Given the description of an element on the screen output the (x, y) to click on. 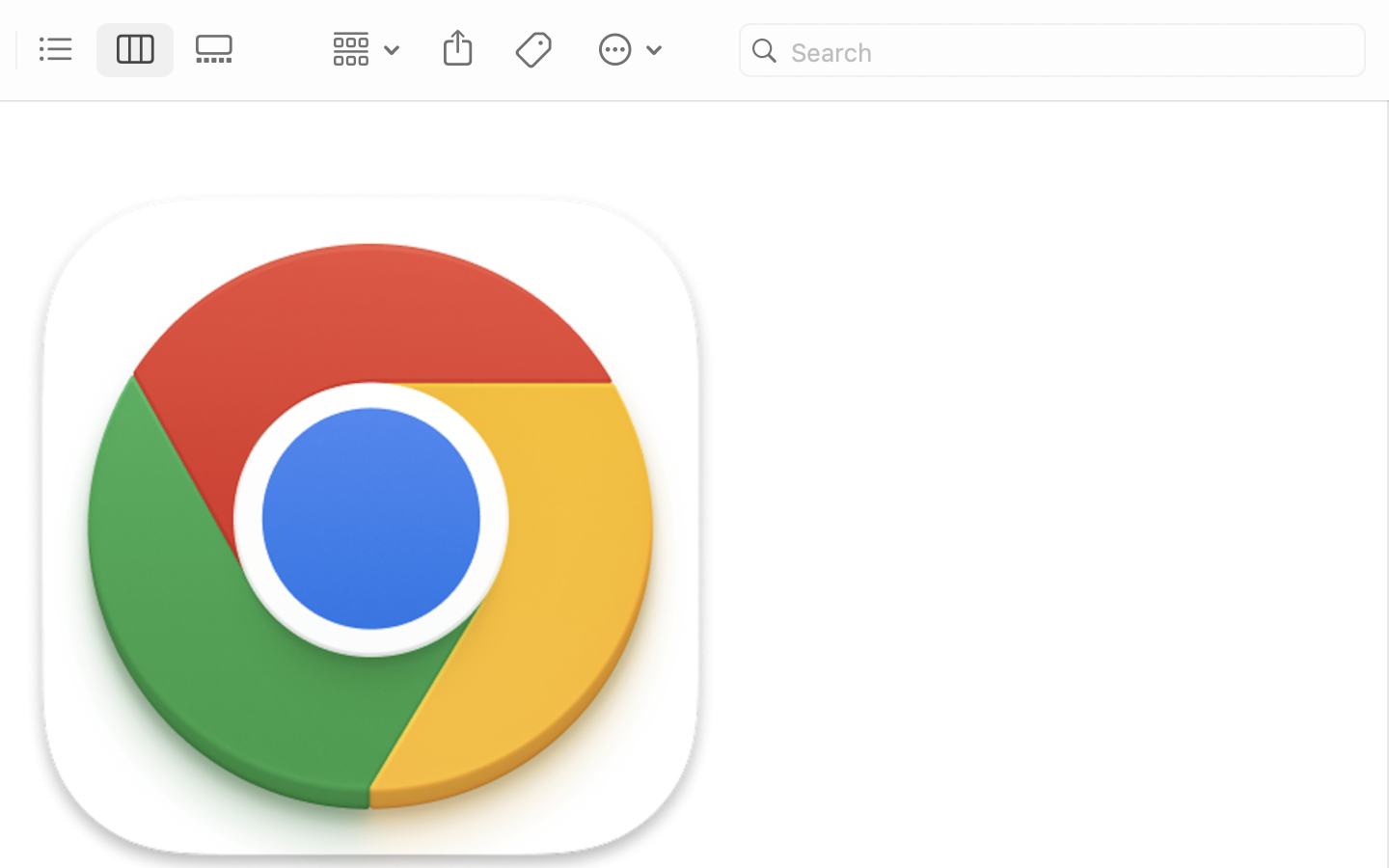
0 Element type: AXRadioButton (219, 49)
1 Element type: AXRadioButton (135, 49)
